Given the description of an element on the screen output the (x, y) to click on. 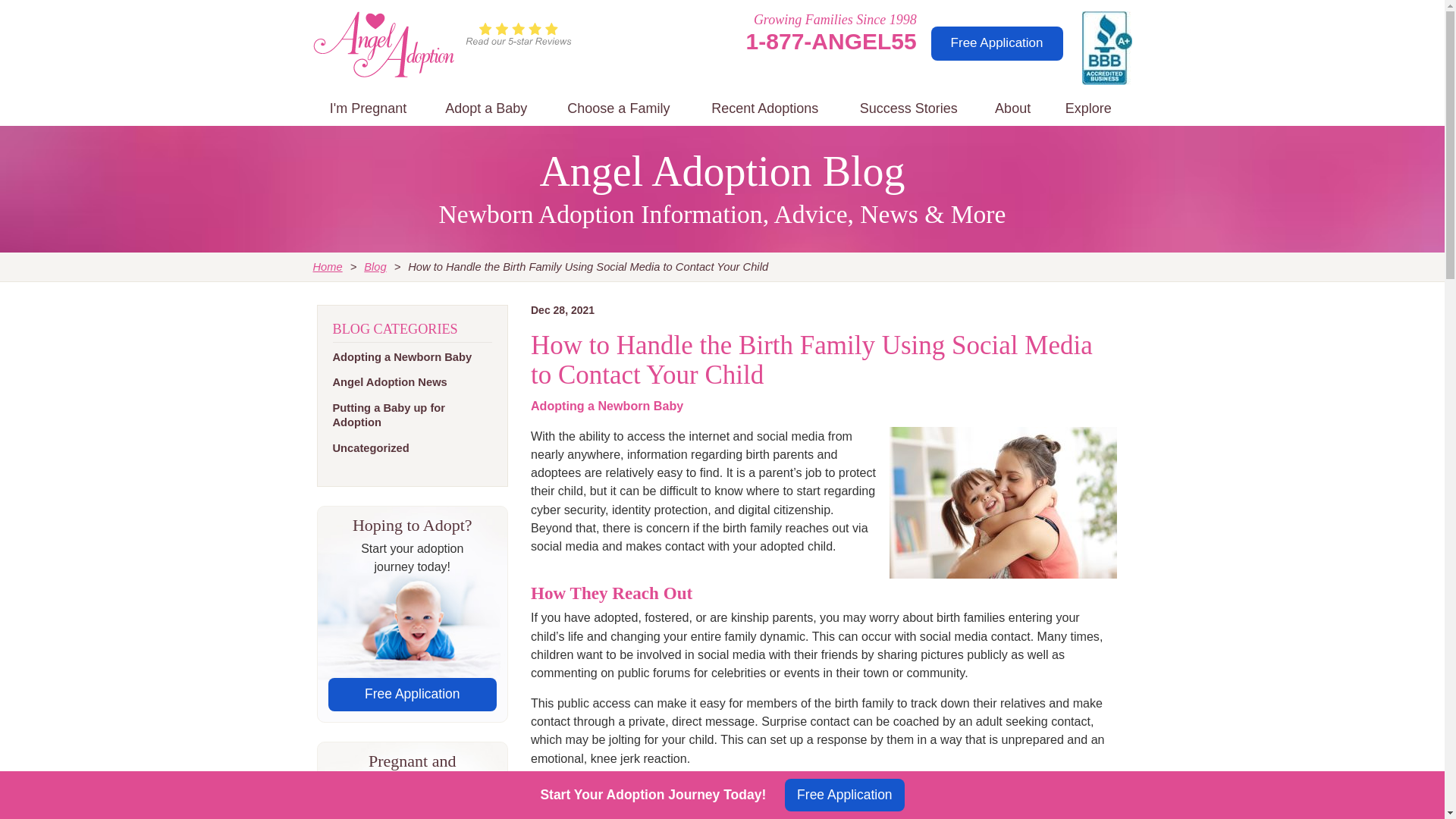
Choose a Family (618, 109)
Free Application (996, 43)
1-877-ANGEL55 (831, 41)
Waiting Families (618, 109)
Little girl smiling while hugging her mom (1002, 502)
I'm Pregnant (368, 109)
Adopt a Baby (486, 109)
